Given the description of an element on the screen output the (x, y) to click on. 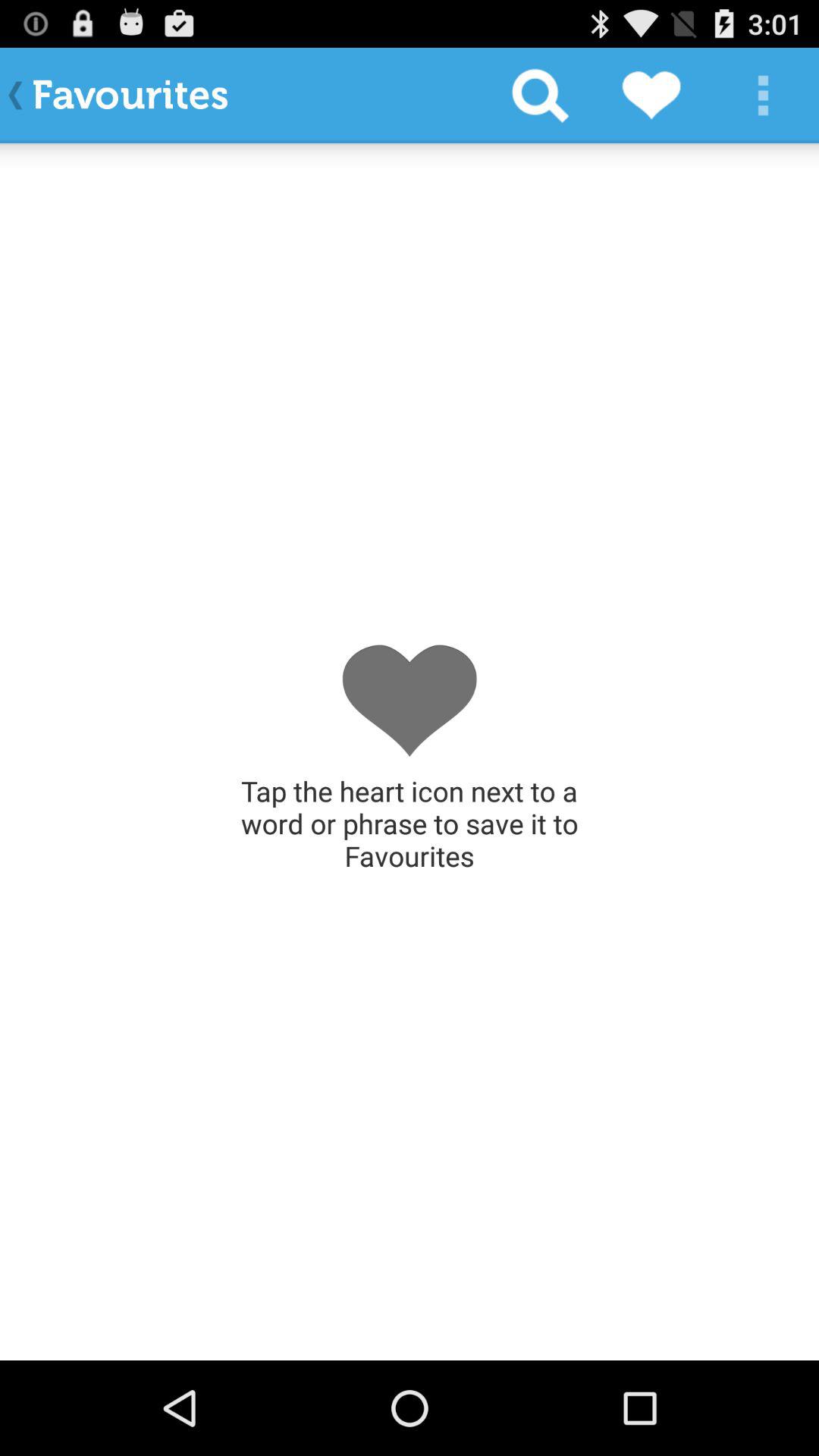
choose the app to the right of favourites app (540, 95)
